Given the description of an element on the screen output the (x, y) to click on. 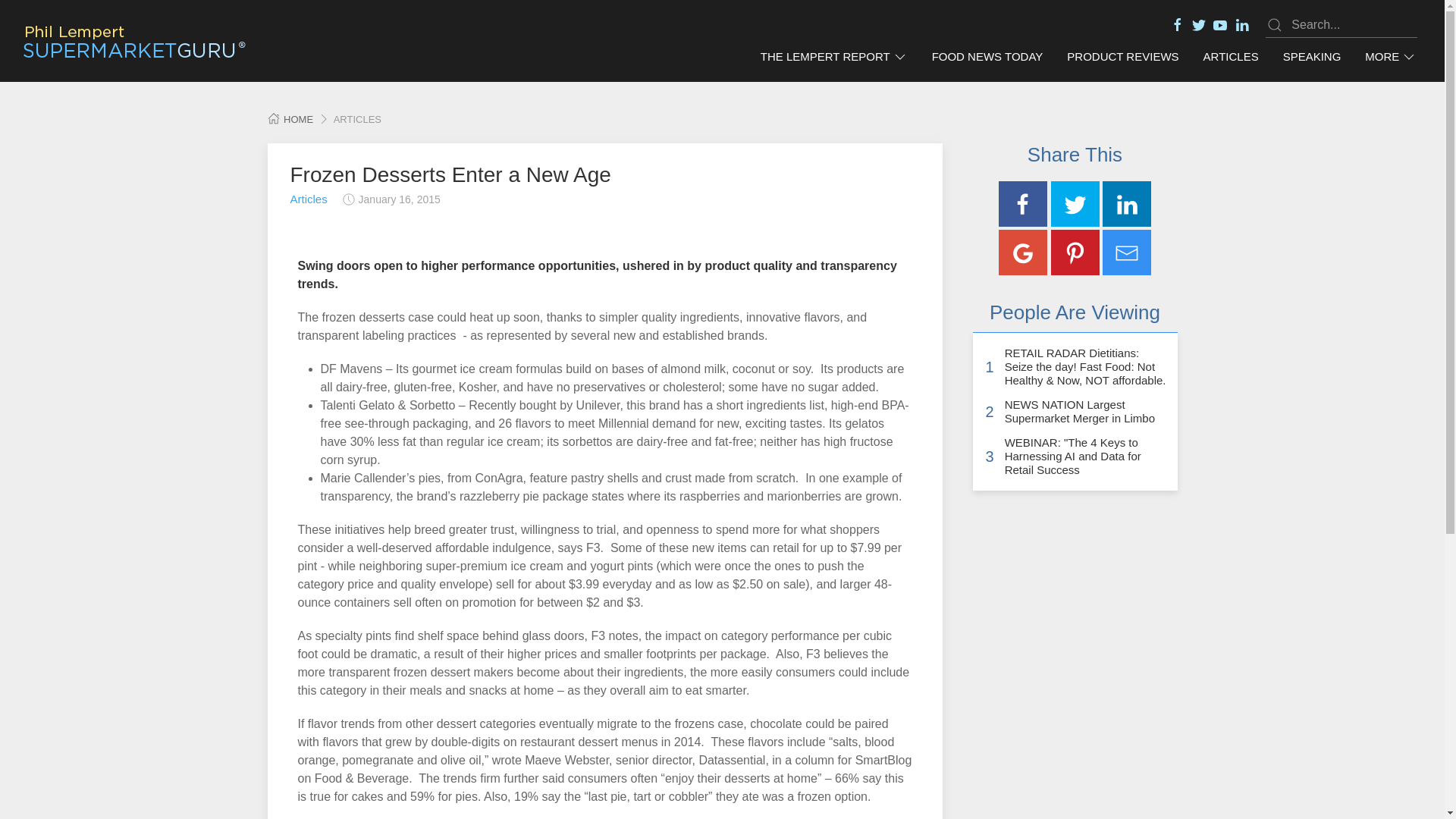
HOME (289, 119)
PRODUCT REVIEWS (1122, 56)
THE LEMPERT REPORT (834, 56)
MORE (1390, 56)
FOOD NEWS TODAY (987, 56)
ARTICLES (1231, 56)
SPEAKING (1312, 56)
